Given the description of an element on the screen output the (x, y) to click on. 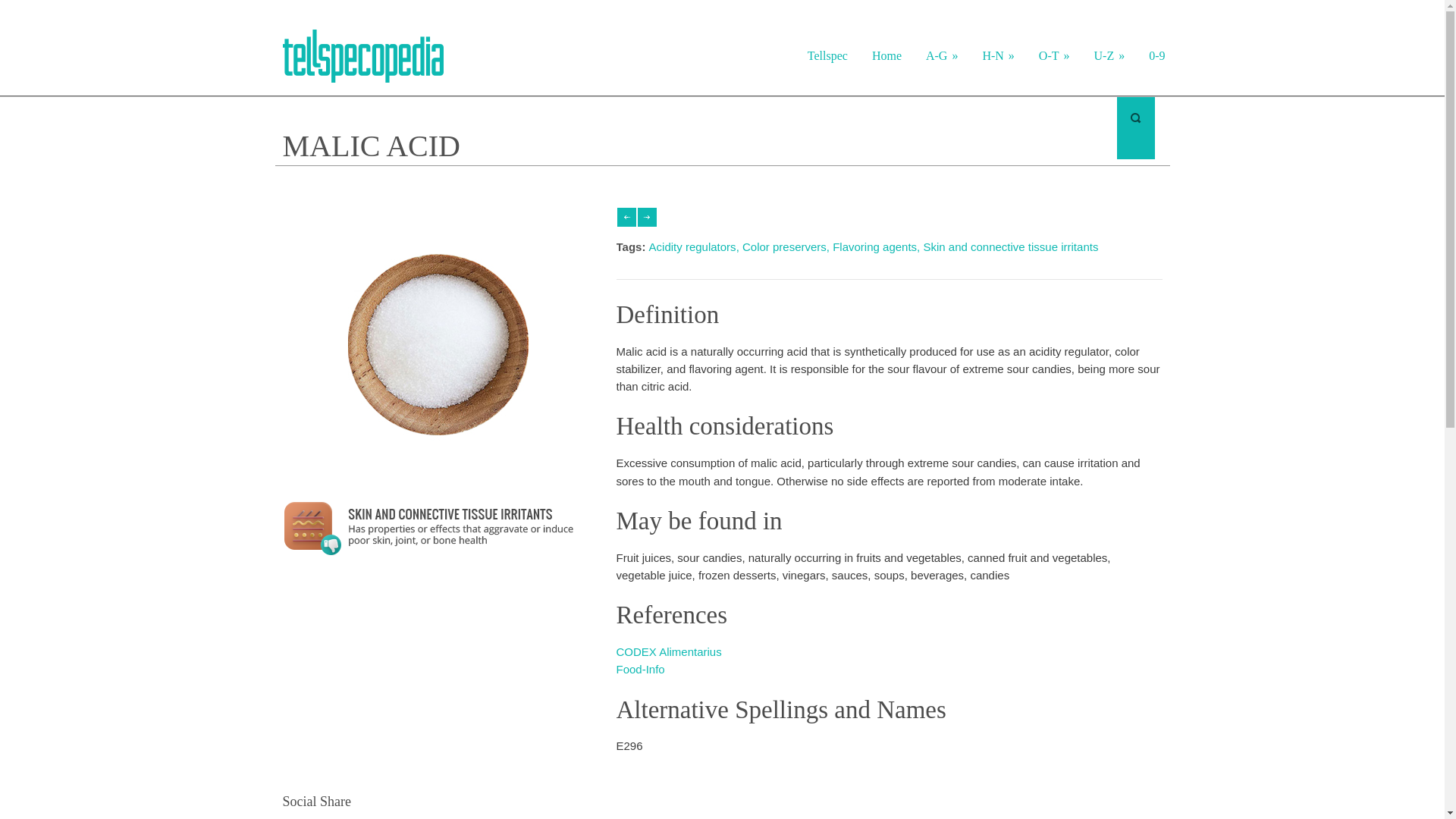
Home (887, 55)
Tellspec (827, 55)
Search... (1007, 127)
0-9 (1156, 55)
Malic acid (440, 550)
